Given the description of an element on the screen output the (x, y) to click on. 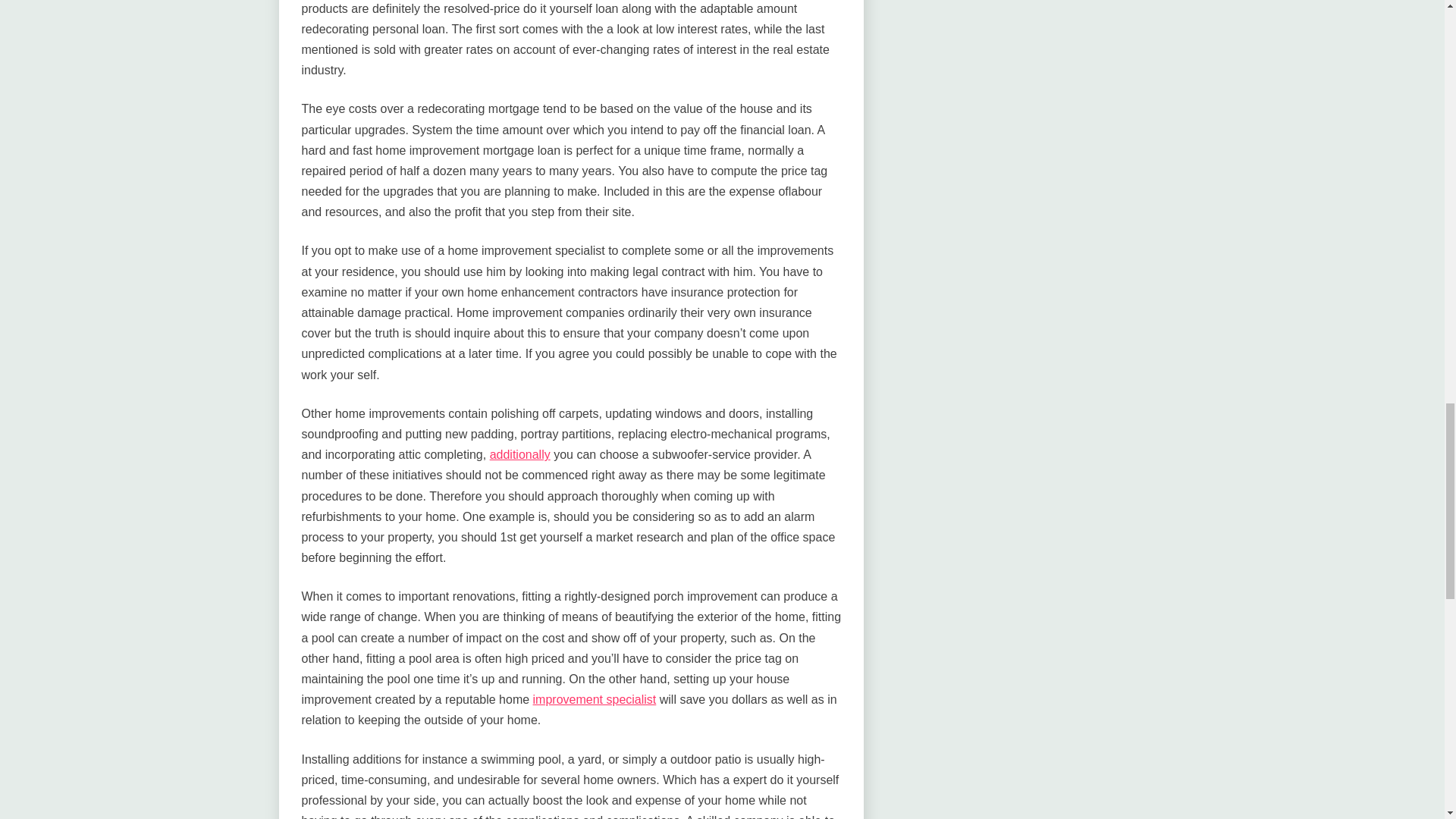
improvement specialist (594, 698)
additionally (519, 454)
